Given the description of an element on the screen output the (x, y) to click on. 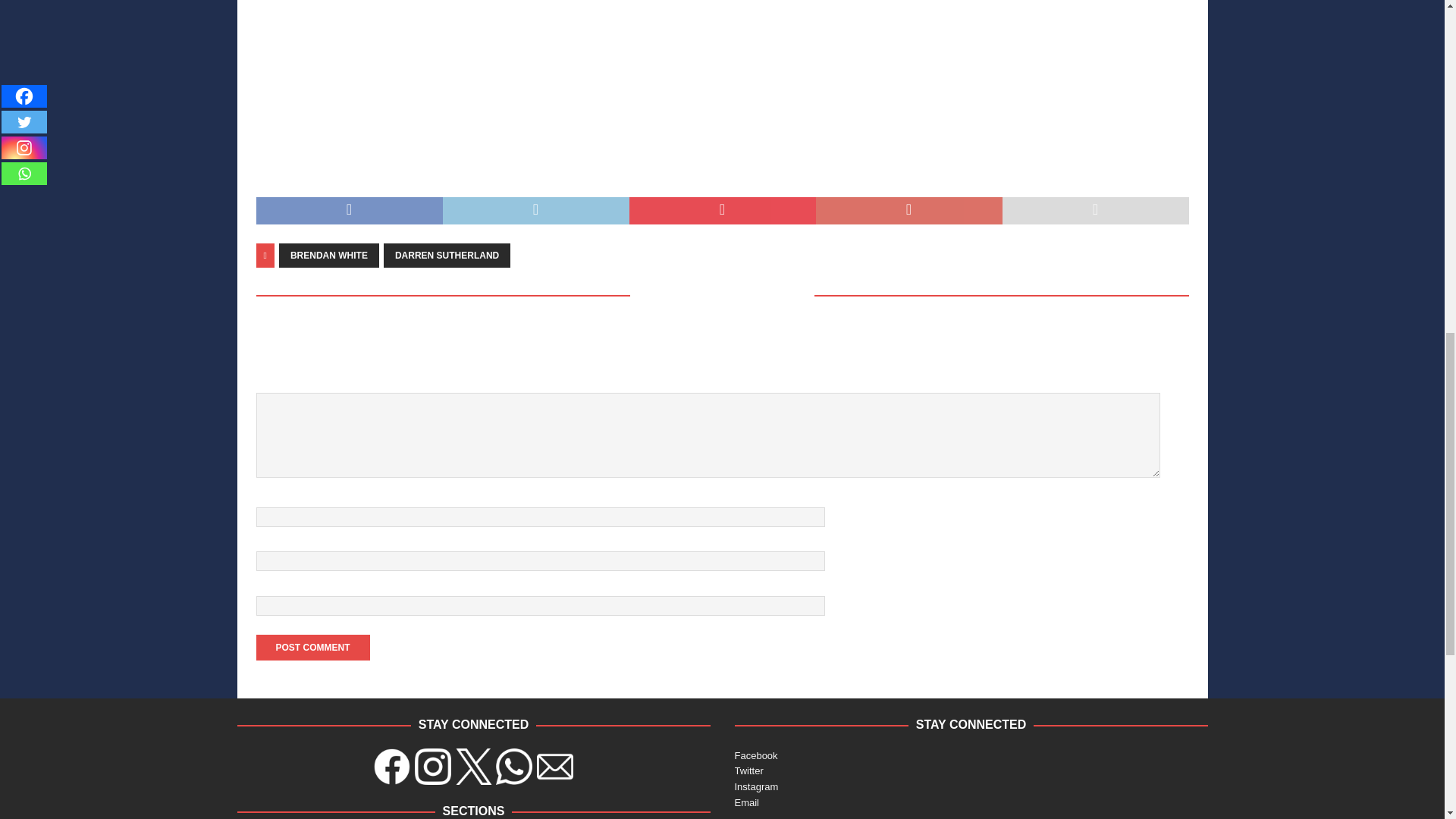
Post Comment (312, 647)
